Given the description of an element on the screen output the (x, y) to click on. 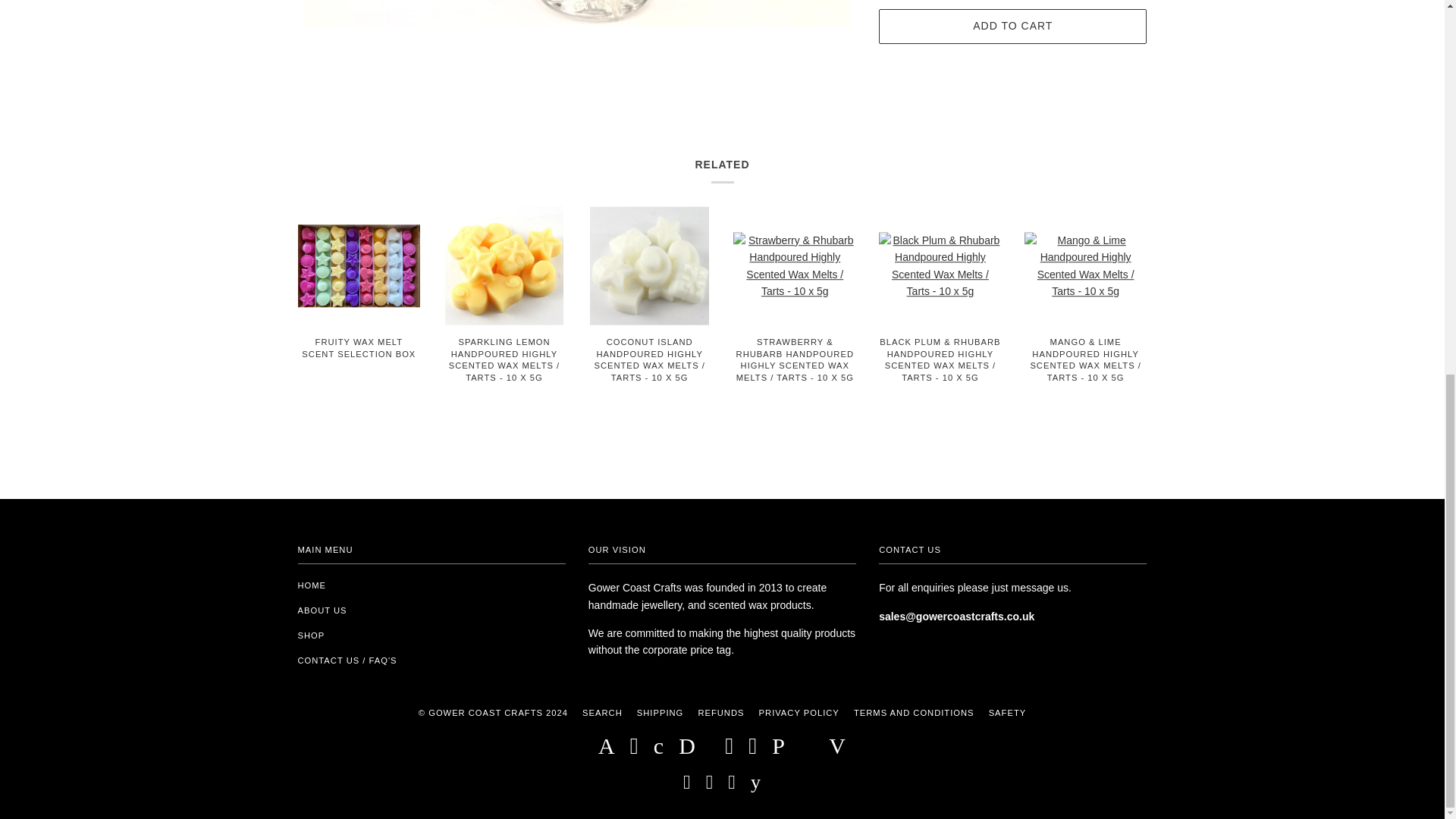
Gower Coast Crafts on Youtube (756, 785)
Gower Coast Crafts on Pinterest (732, 785)
Gower Coast Crafts on Facebook (686, 785)
Gower Coast Crafts on Instagram (710, 785)
